Given the description of an element on the screen output the (x, y) to click on. 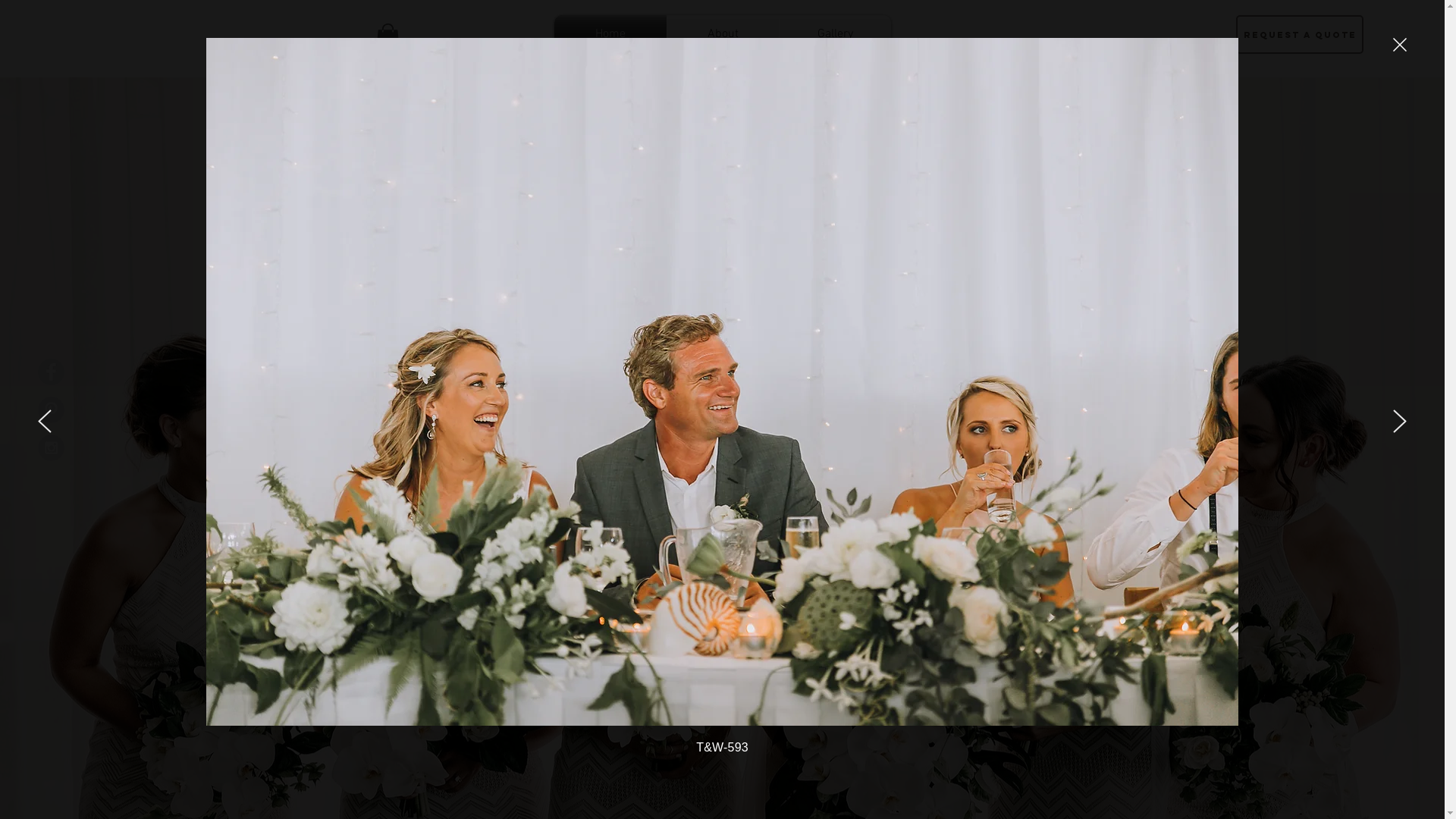
Home Element type: text (609, 34)
Request a Quote Element type: text (1299, 34)
Gallery Element type: text (835, 34)
About Element type: text (722, 34)
FLORAL DESIGNS Element type: text (890, 361)
0 Element type: text (386, 38)
